Given the description of an element on the screen output the (x, y) to click on. 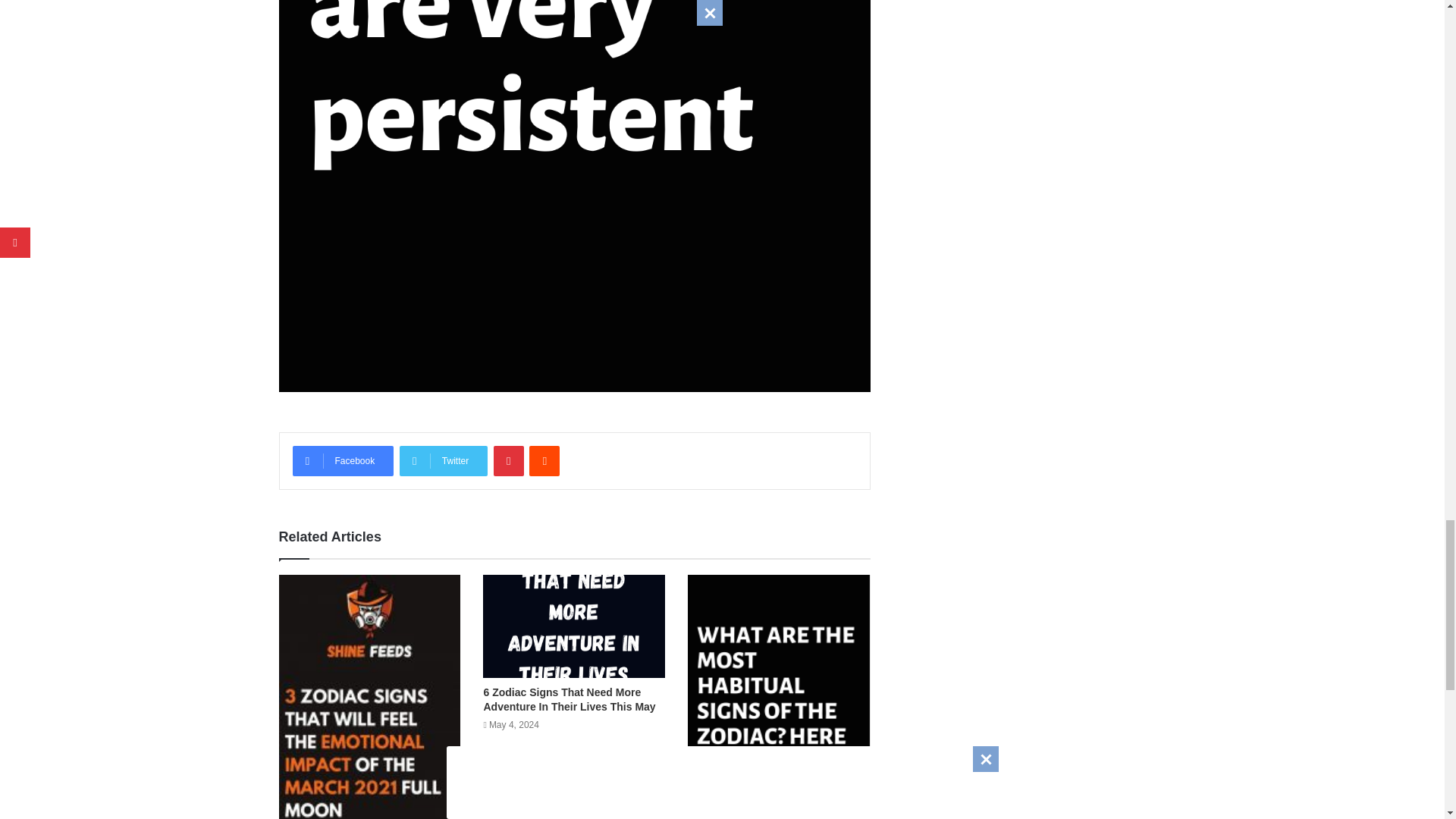
Pinterest (508, 460)
Reddit (544, 460)
Facebook (343, 460)
Twitter (442, 460)
